Given the description of an element on the screen output the (x, y) to click on. 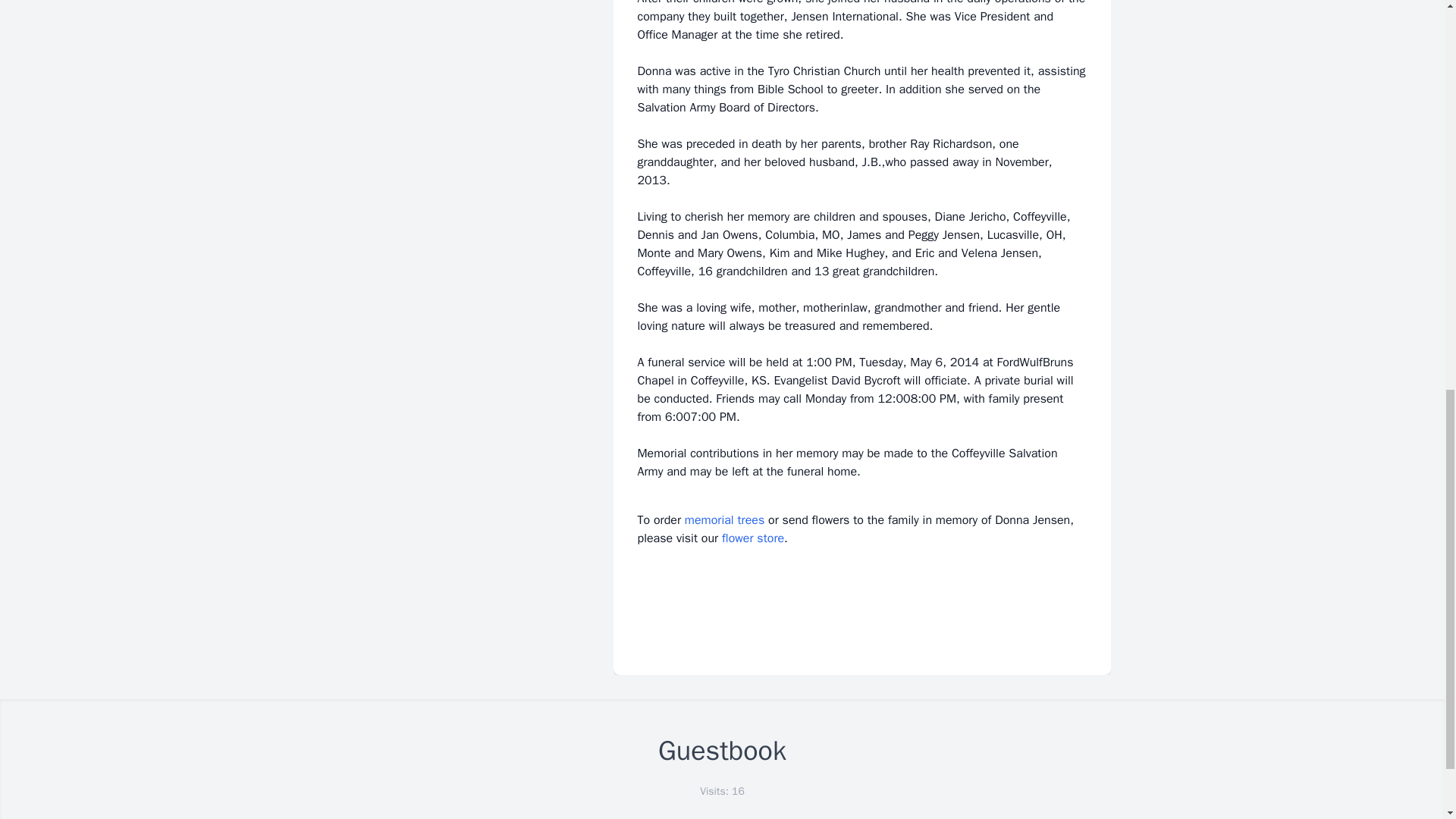
memorial trees (724, 519)
flower store (753, 538)
